Given the description of an element on the screen output the (x, y) to click on. 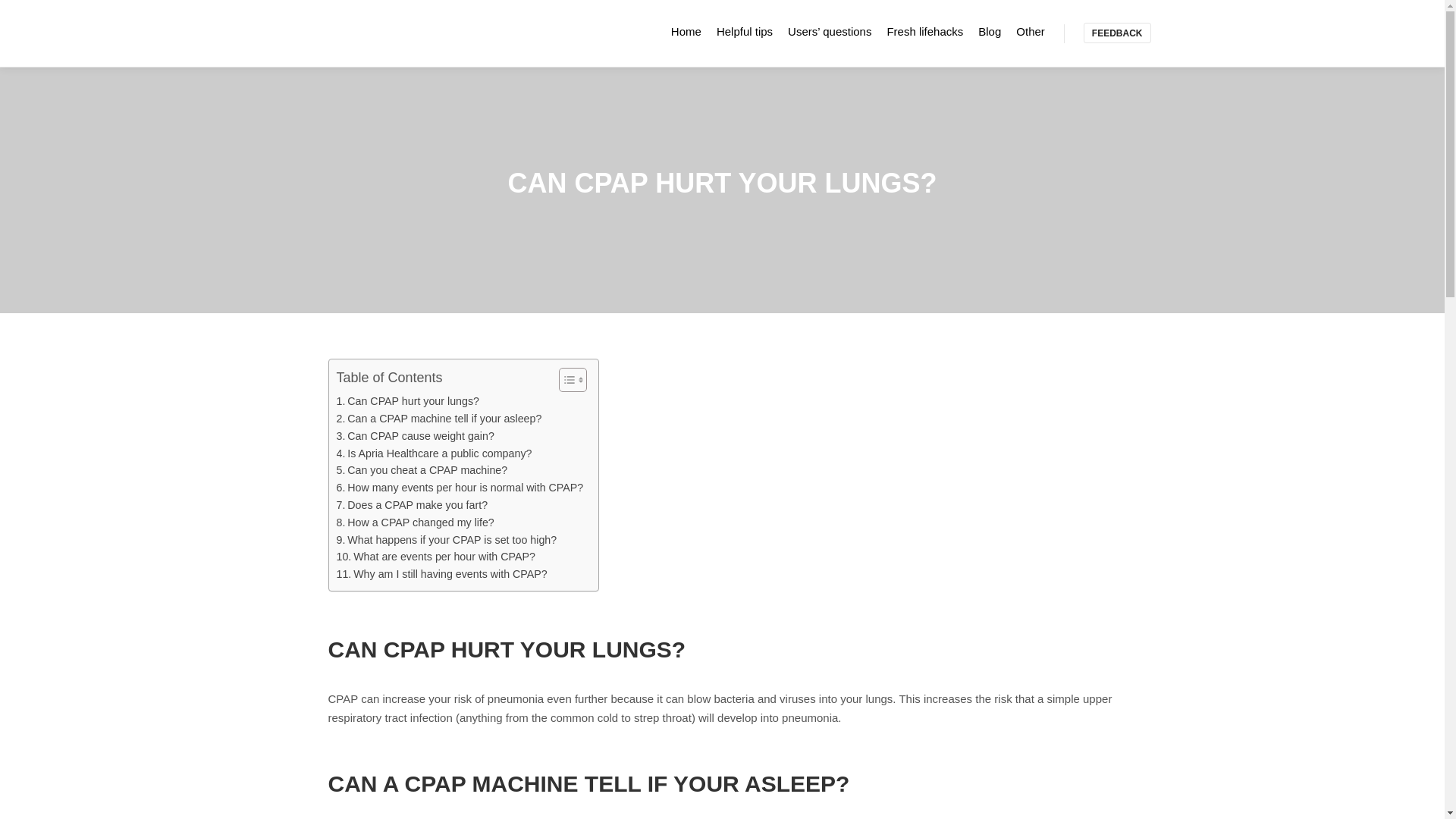
Blog (990, 31)
How many events per hour is normal with CPAP? (459, 487)
Can CPAP cause weight gain? (415, 436)
How many events per hour is normal with CPAP? (459, 487)
Can a CPAP machine tell if your asleep? (438, 418)
What happens if your CPAP is set too high? (446, 539)
How a CPAP changed my life? (415, 522)
FEEDBACK (1117, 32)
Why am I still having events with CPAP? (441, 574)
Other (1030, 31)
